Given the description of an element on the screen output the (x, y) to click on. 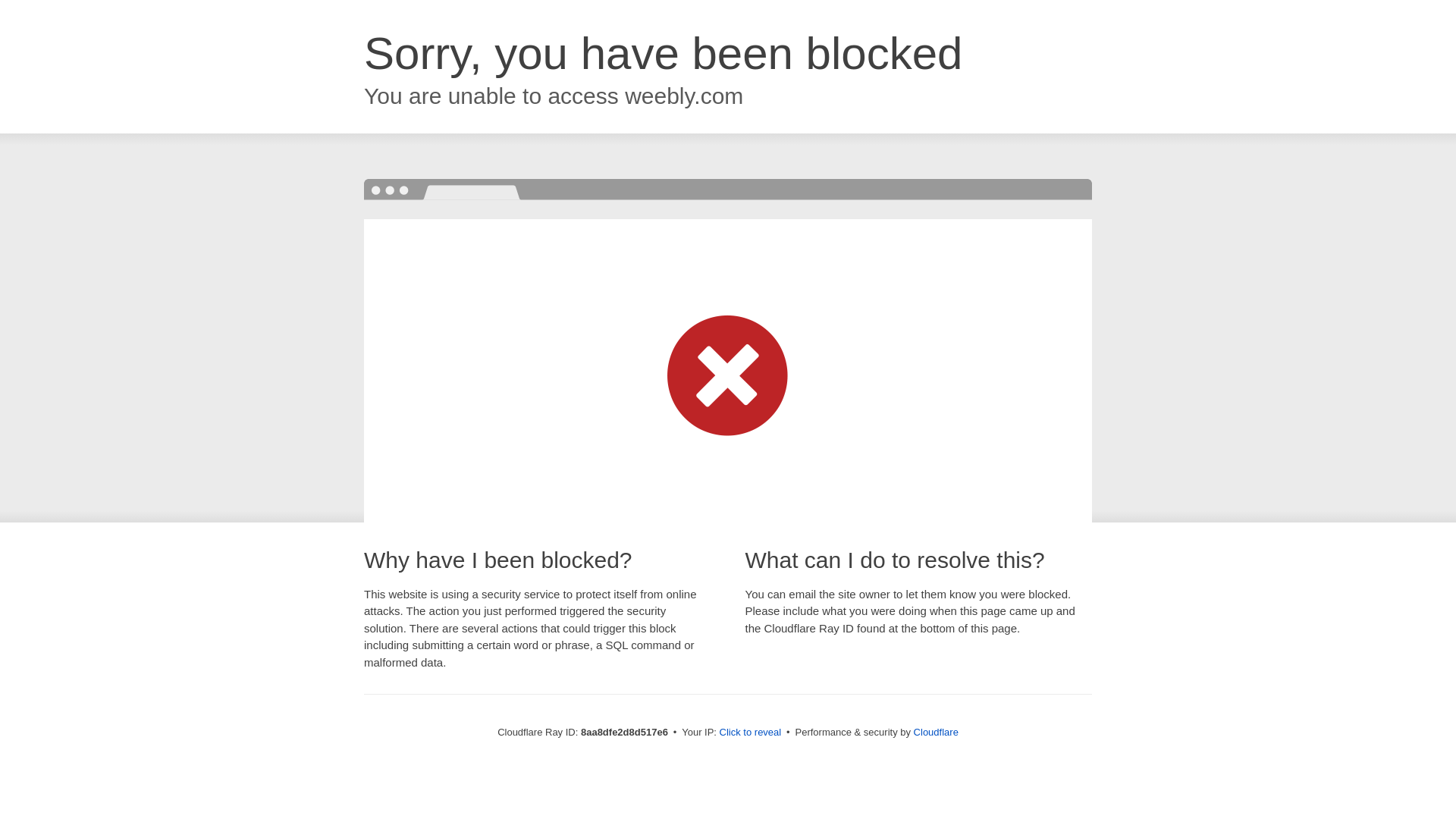
Cloudflare (936, 731)
Click to reveal (750, 732)
